Given the description of an element on the screen output the (x, y) to click on. 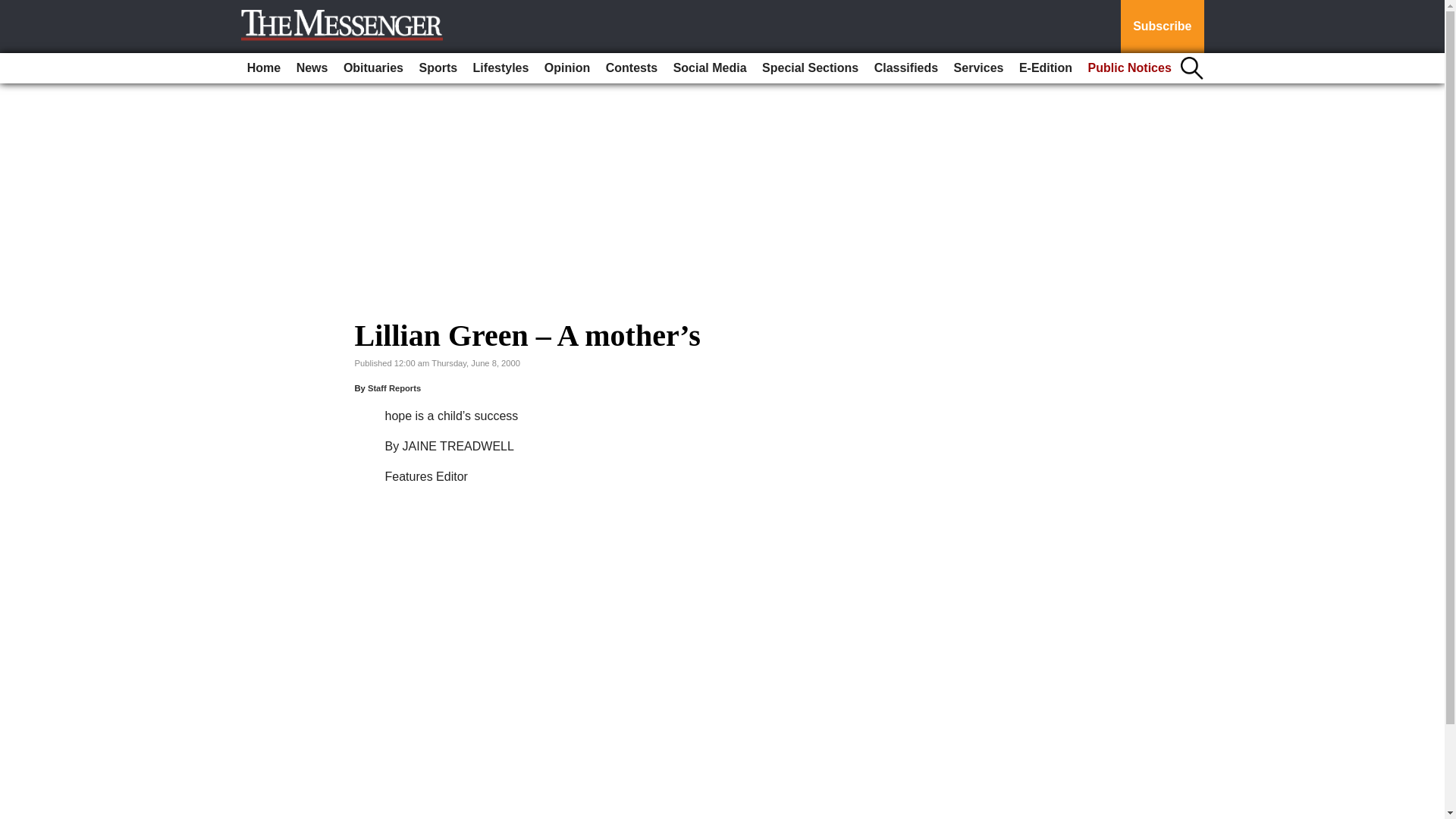
News (311, 68)
Services (978, 68)
E-Edition (1045, 68)
Opinion (566, 68)
Obituaries (373, 68)
Home (263, 68)
Social Media (709, 68)
Contests (631, 68)
Lifestyles (501, 68)
Subscribe (1162, 26)
